Given the description of an element on the screen output the (x, y) to click on. 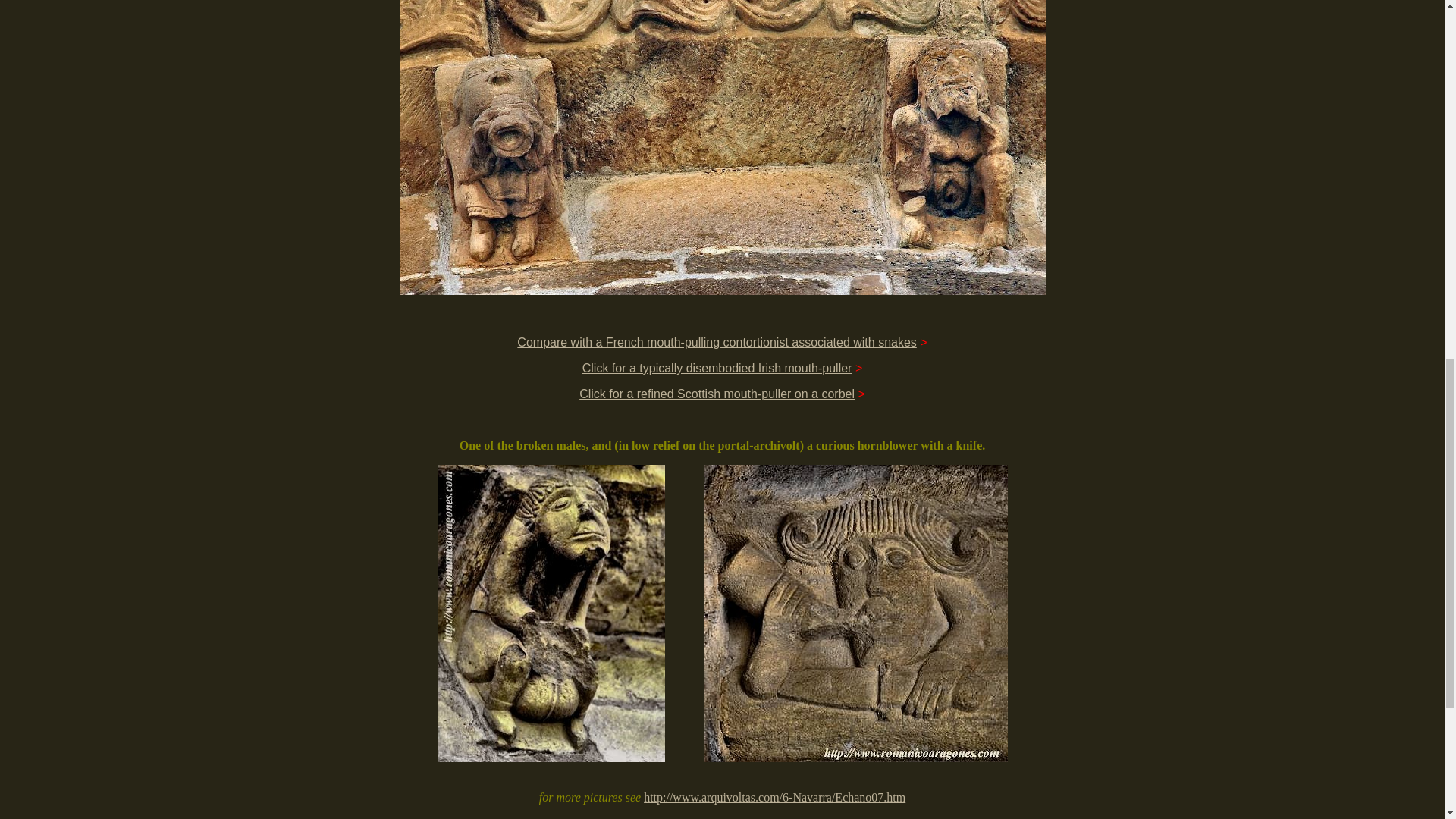
Click for a refined Scottish mouth-puller on a corbel (716, 393)
Click for a typically disembodied Irish mouth-puller (716, 367)
